Given the description of an element on the screen output the (x, y) to click on. 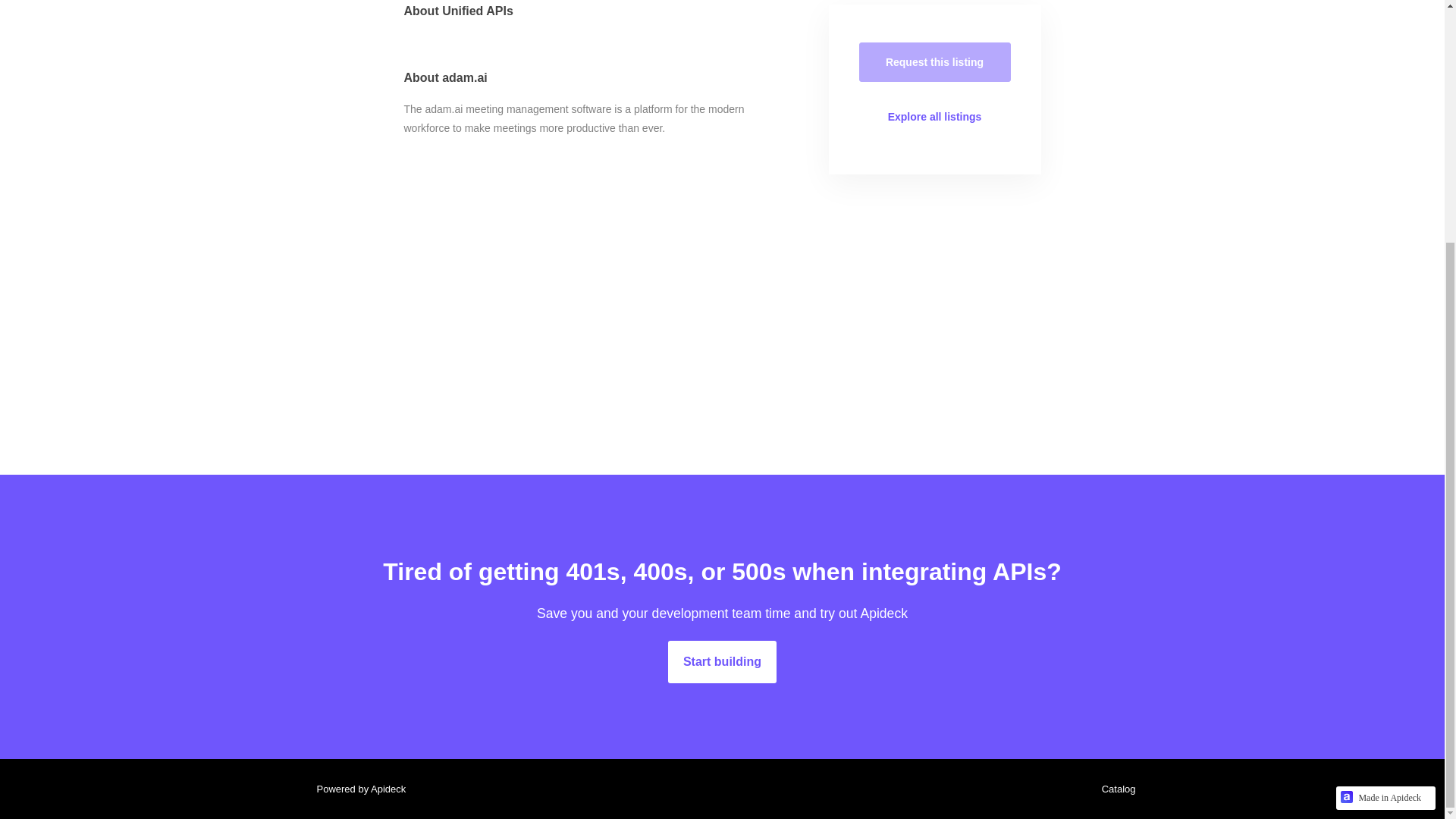
Catalog (1115, 789)
Powered by Apideck (356, 789)
Request this listing (934, 61)
Explore all listings (934, 116)
Start building (722, 661)
